Given the description of an element on the screen output the (x, y) to click on. 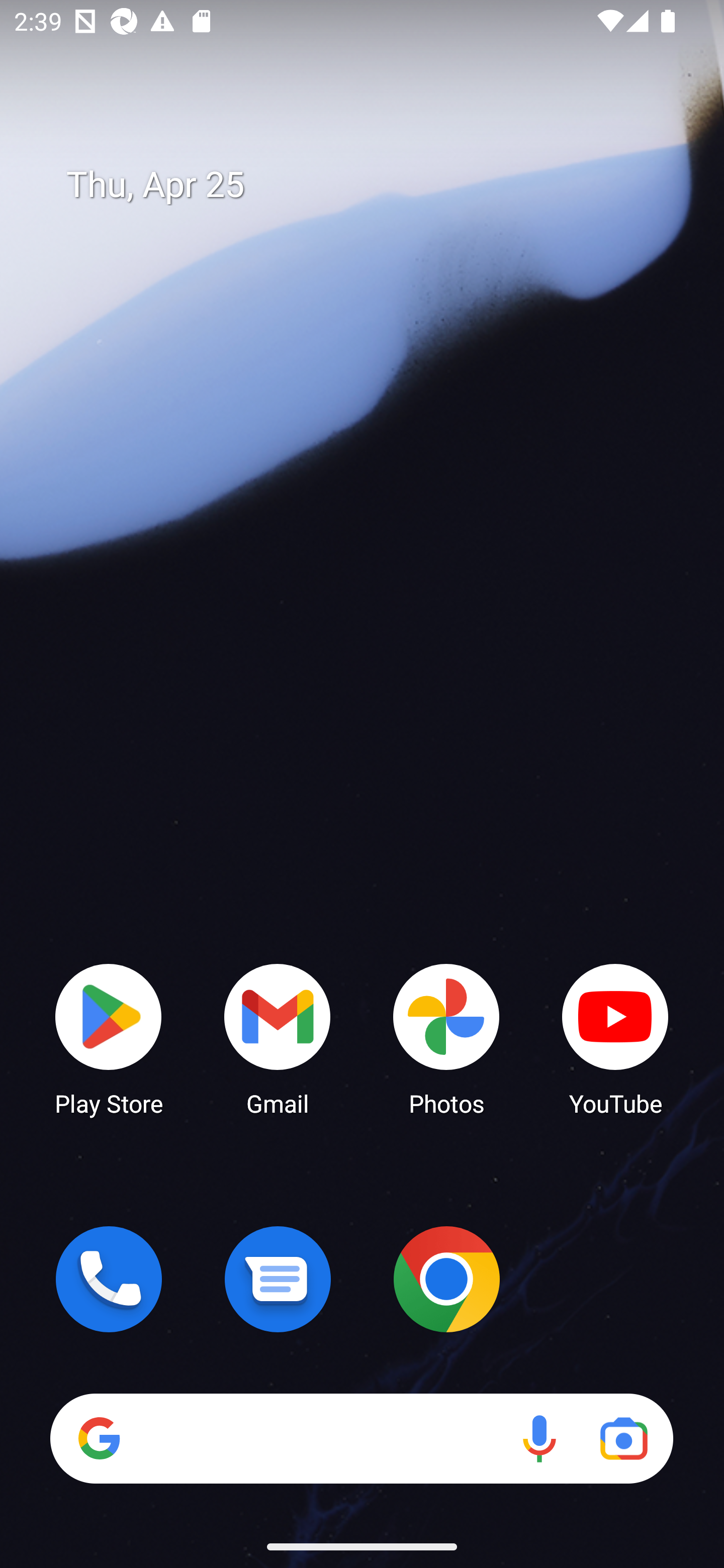
Thu, Apr 25 (375, 184)
Play Store (108, 1038)
Gmail (277, 1038)
Photos (445, 1038)
YouTube (615, 1038)
Phone (108, 1279)
Messages (277, 1279)
Chrome (446, 1279)
Search Voice search Google Lens (361, 1438)
Voice search (539, 1438)
Google Lens (623, 1438)
